Given the description of an element on the screen output the (x, y) to click on. 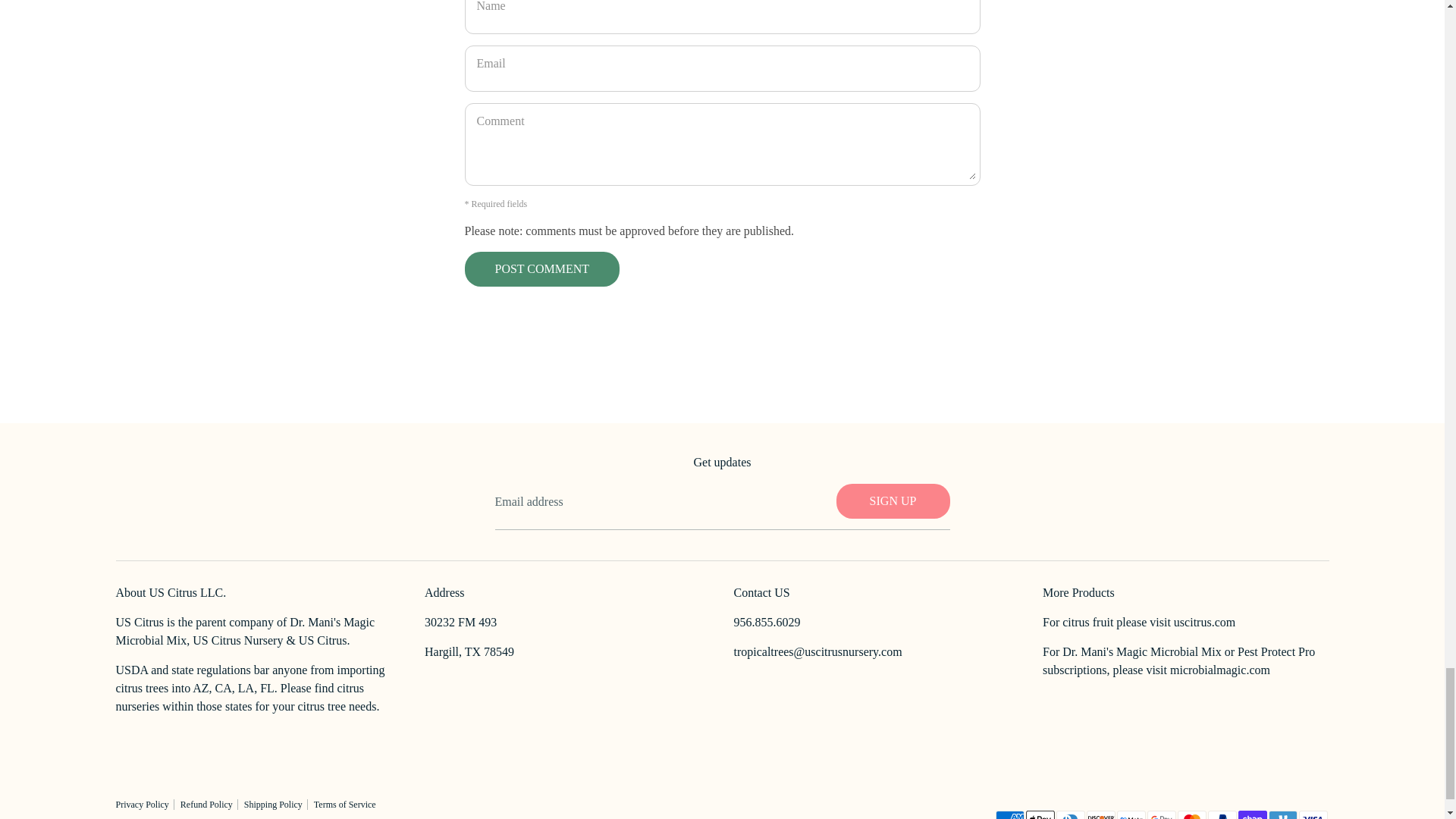
American Express (1008, 814)
Apple Pay (1039, 814)
PayPal (1221, 814)
Diners Club (1069, 814)
Shop Pay (1251, 814)
Post comment (542, 268)
Venmo (1282, 814)
Meta Pay (1130, 814)
Mastercard (1190, 814)
Discover (1100, 814)
Google Pay (1160, 814)
